Given the description of an element on the screen output the (x, y) to click on. 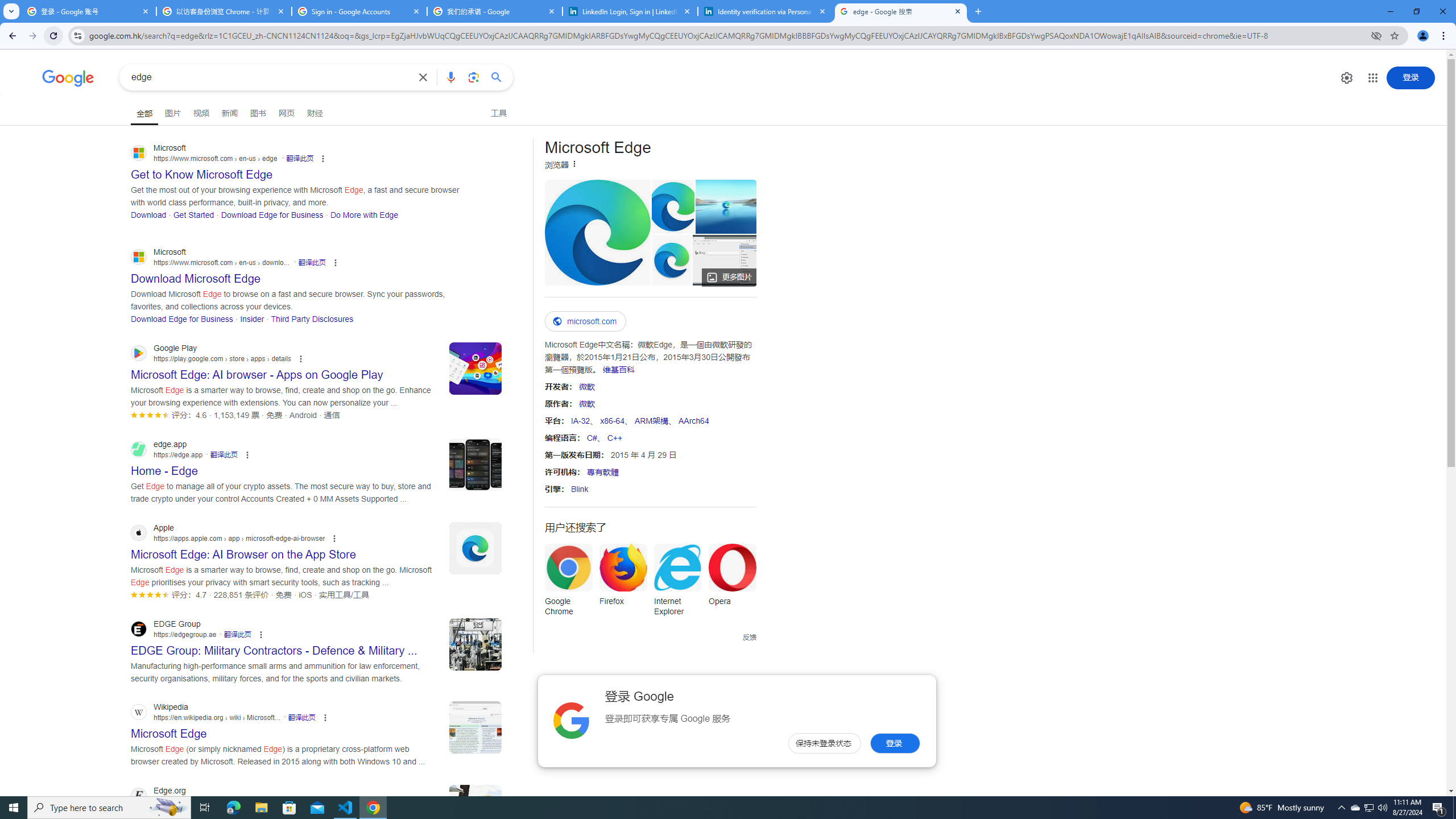
Address and search bar (726, 35)
Internet Explorer (677, 583)
Download (148, 214)
Home - Microsoft Edge Blog (726, 206)
Get Started (193, 214)
